Given the description of an element on the screen output the (x, y) to click on. 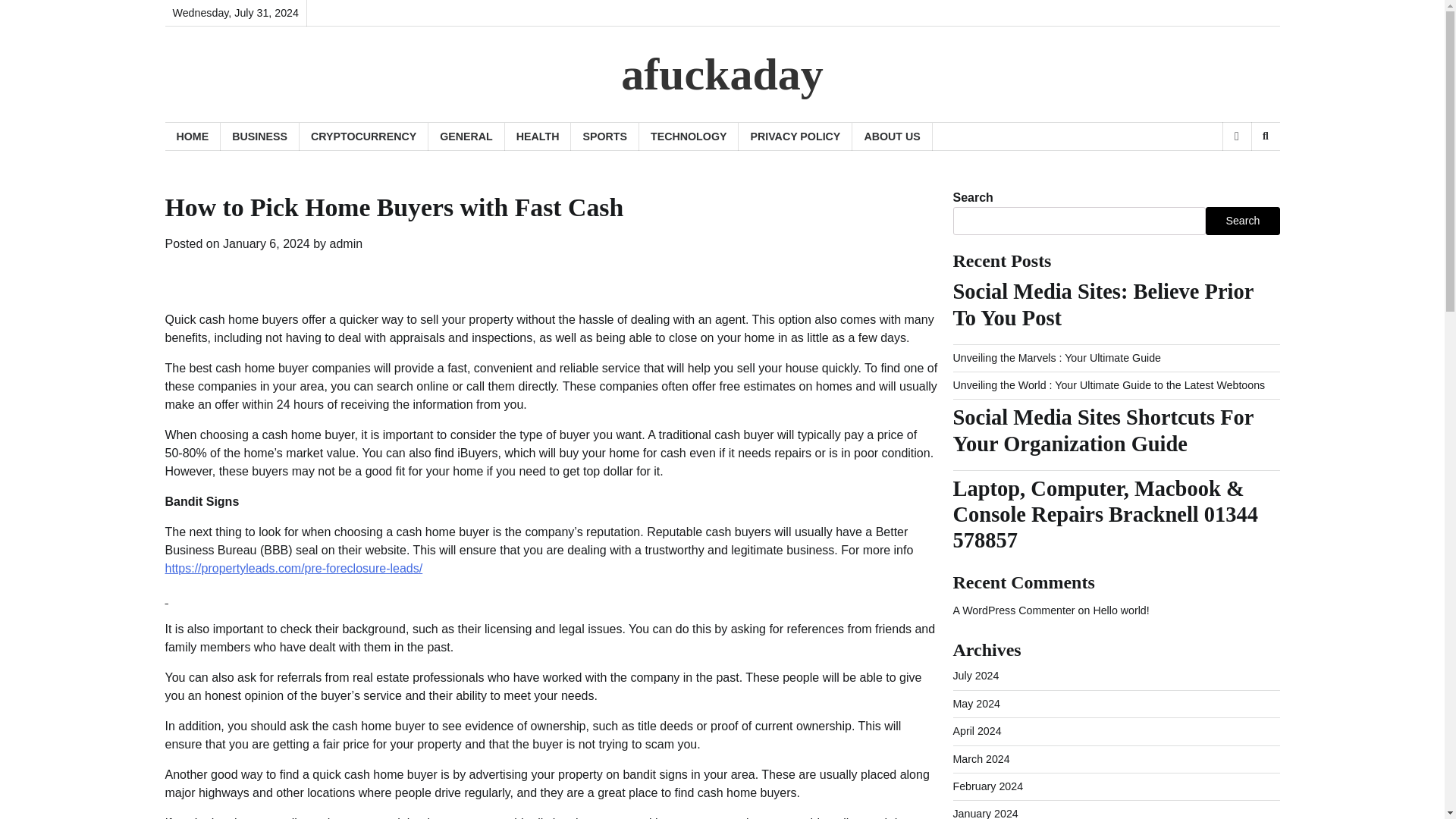
Search (1240, 175)
BUSINESS (260, 136)
PRIVACY POLICY (794, 136)
HEALTH (538, 136)
January 6, 2024 (266, 243)
Unveiling the Marvels : Your Ultimate Guide (1056, 357)
Search (1264, 136)
Search (1242, 220)
A WordPress Commenter (1013, 610)
TECHNOLOGY (688, 136)
ABOUT US (891, 136)
CRYPTOCURRENCY (363, 136)
Social Media Sites: Believe Prior To You Post (1115, 304)
HOME (193, 136)
